Given the description of an element on the screen output the (x, y) to click on. 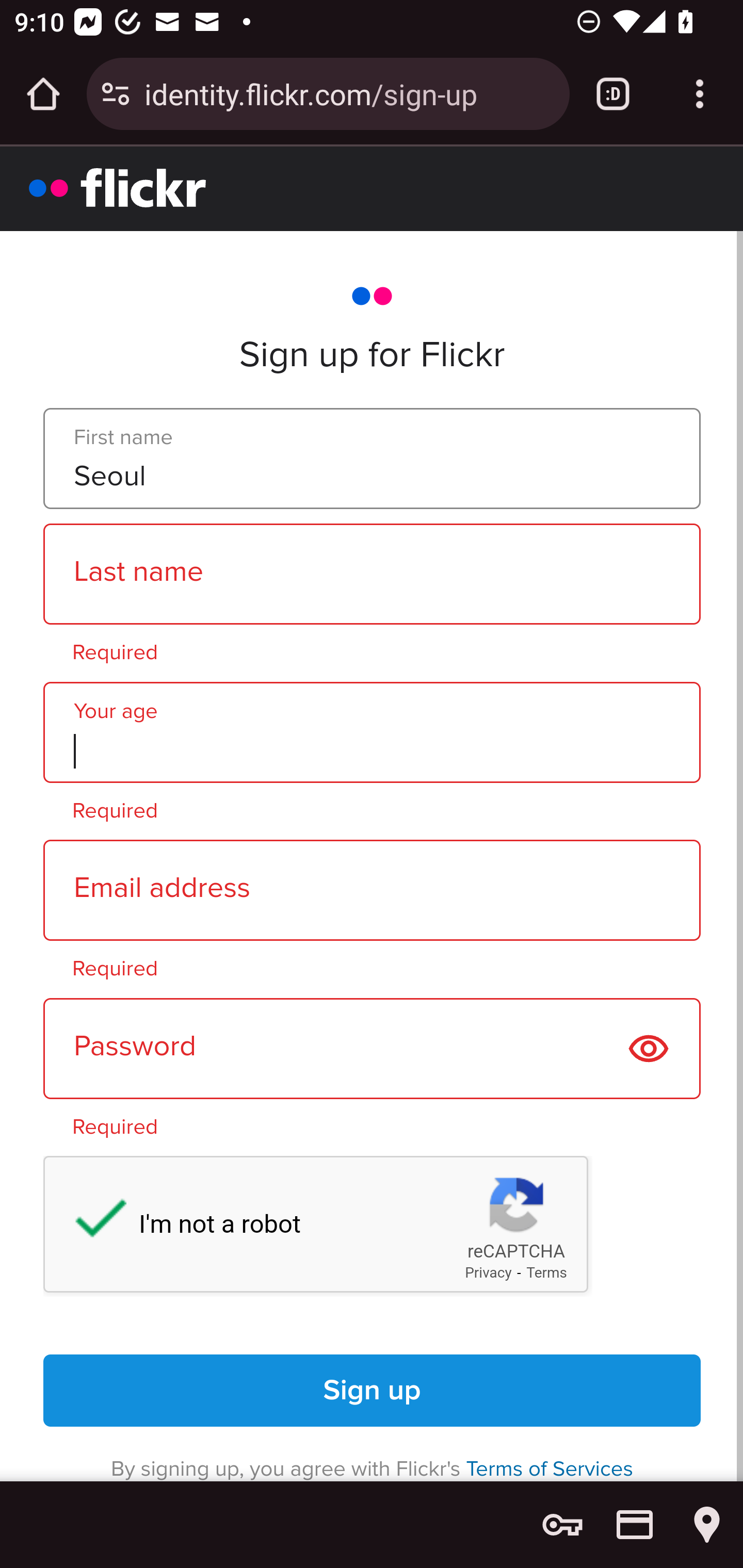
Open the home page (43, 93)
Connection is secure (115, 93)
Switch or close tabs (612, 93)
Customize and control Google Chrome (699, 93)
identity.flickr.com/sign-up (349, 92)
Flickr Logo (117, 186)
Seoul (371, 459)
I'm not a robot (91, 1222)
Privacy (488, 1272)
Terms (546, 1272)
Sign up (372, 1390)
Terms of Services (549, 1468)
Show saved passwords and password options (562, 1524)
Show saved payment methods (634, 1524)
Show saved addresses (706, 1524)
